Given the description of an element on the screen output the (x, y) to click on. 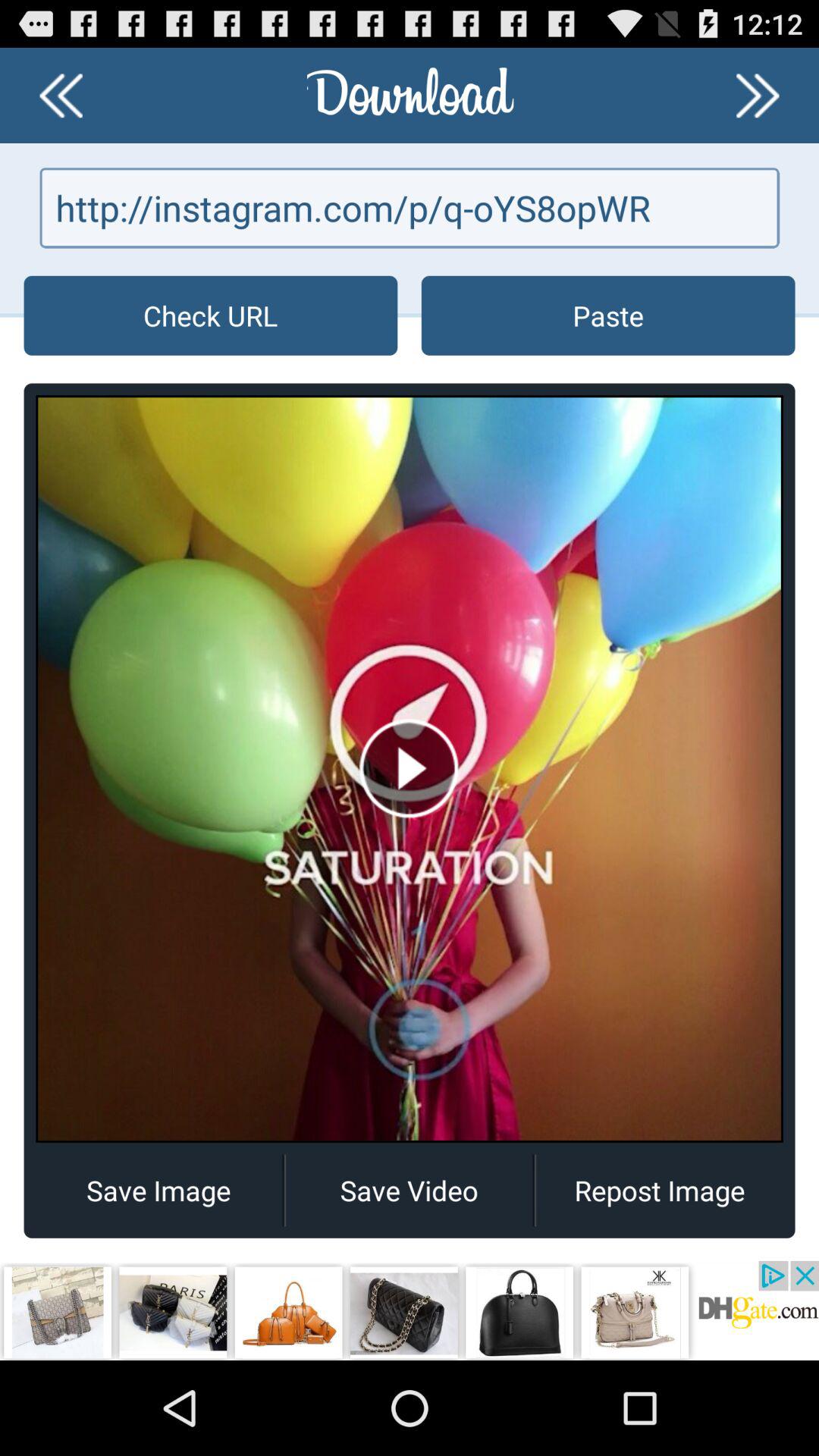
go to next screen (757, 95)
